Given the description of an element on the screen output the (x, y) to click on. 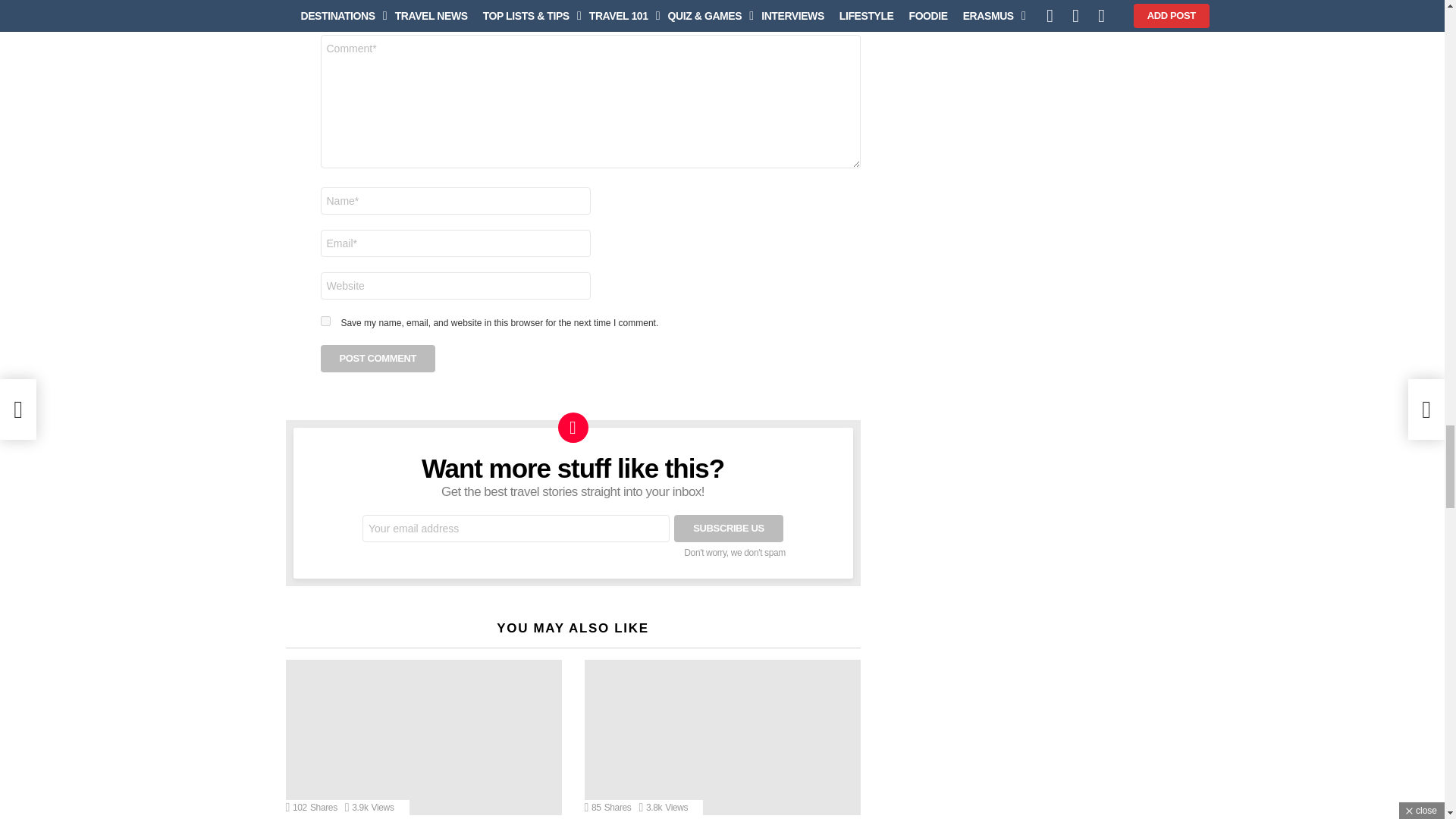
yes (325, 320)
Post Comment (377, 358)
Subscribe us (728, 528)
